Given the description of an element on the screen output the (x, y) to click on. 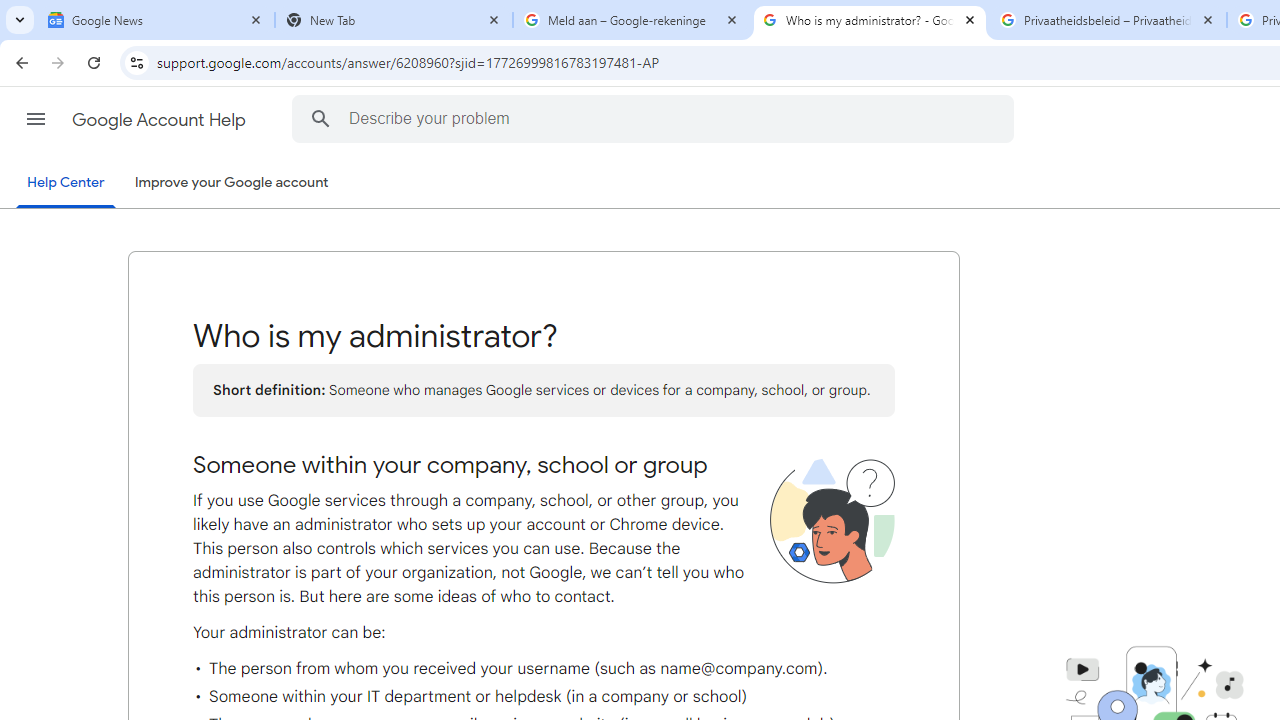
New Tab (394, 20)
Google Account Help (160, 119)
Who is my administrator? - Google Account Help (870, 20)
Improve your Google account (231, 183)
Search the Help Center (320, 118)
